Given the description of an element on the screen output the (x, y) to click on. 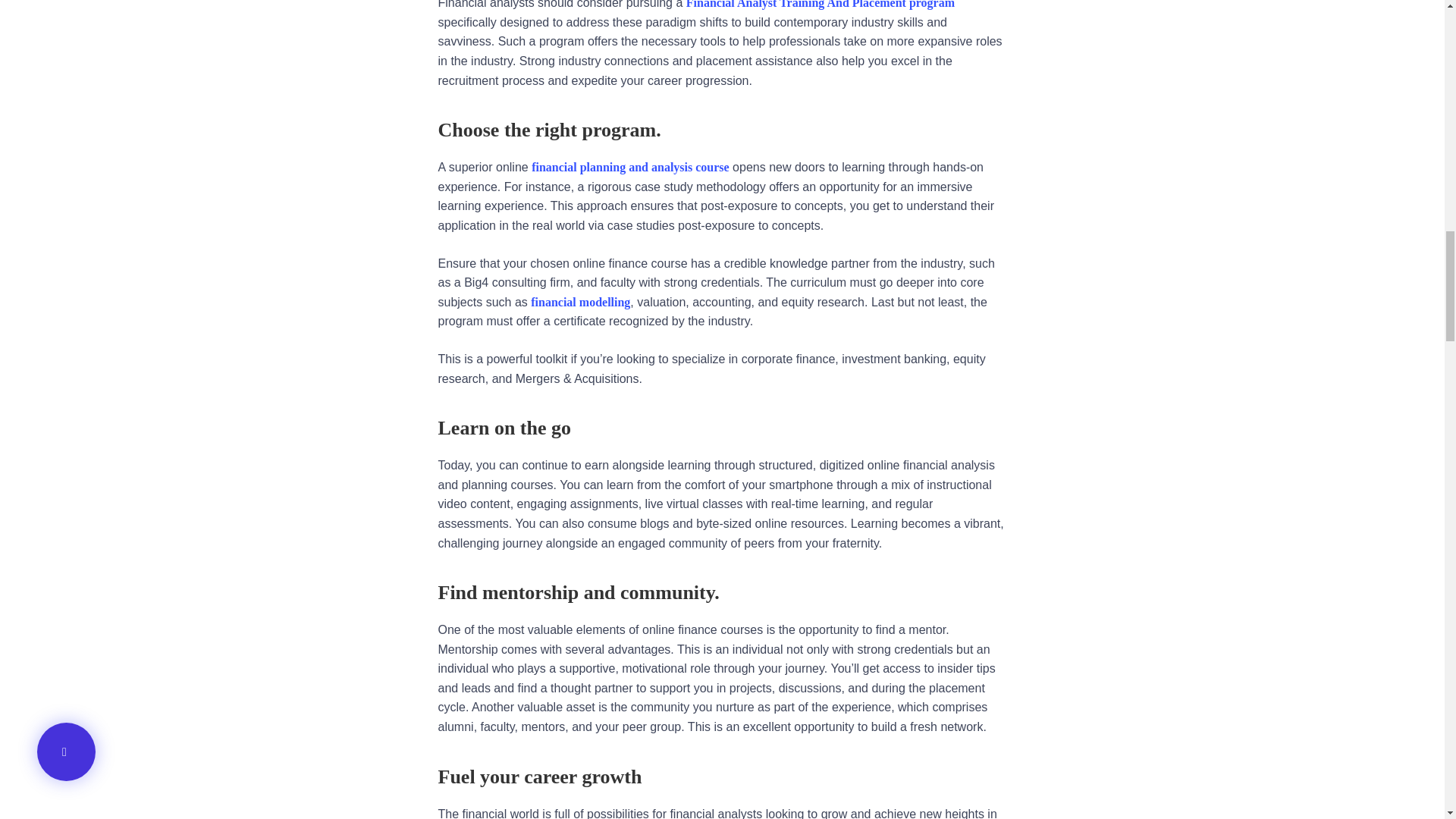
Financial Analyst Training And Placement program (820, 4)
financial modelling (580, 301)
financial planning and analysis course (630, 166)
